Given the description of an element on the screen output the (x, y) to click on. 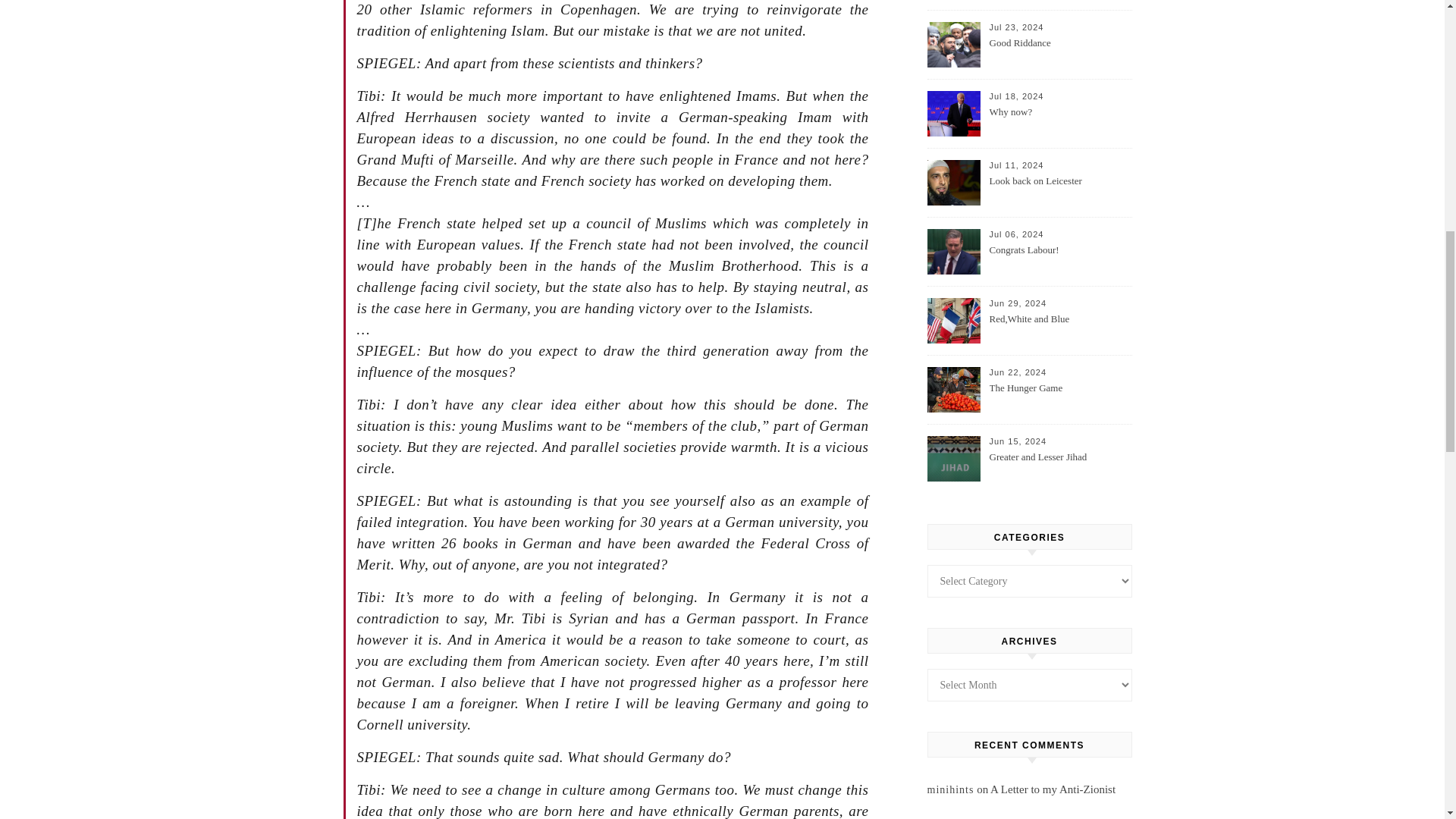
Why now? (1058, 121)
Good Riddance (1058, 52)
Look back on Leicester (1058, 190)
